Given the description of an element on the screen output the (x, y) to click on. 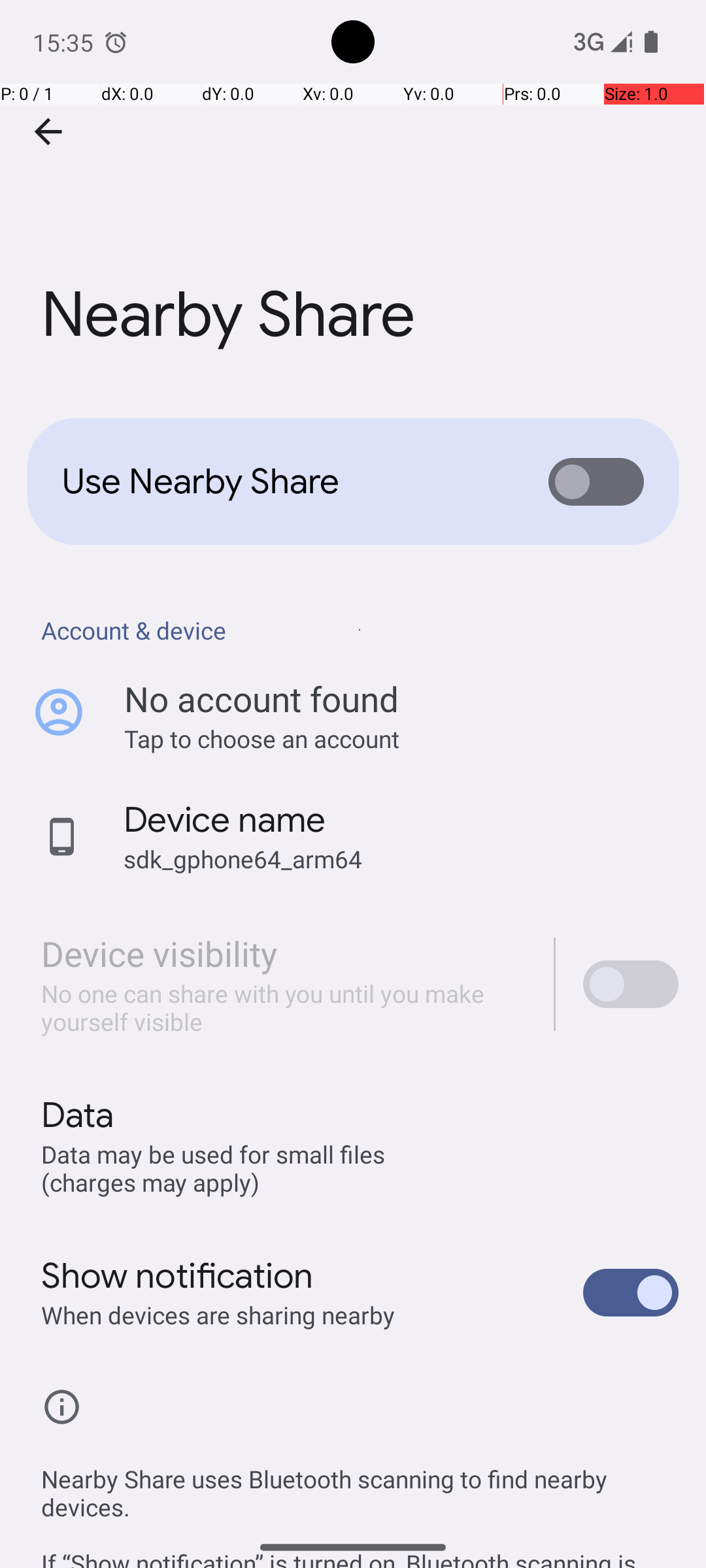
Nearby Share Element type: android.widget.FrameLayout (353, 195)
Use Nearby Share Element type: android.widget.TextView (284, 481)
Account & device Element type: android.widget.TextView (359, 629)
Tap to choose an account Element type: android.widget.TextView (401, 738)
Data Element type: android.widget.TextView (77, 1115)
Data may be used for small files 
(charges may apply) Element type: android.widget.TextView (215, 1167)
Show notification Element type: android.widget.TextView (177, 1275)
When devices are sharing nearby Element type: android.widget.TextView (218, 1314)
Nearby Share uses Bluetooth scanning to find nearby devices. 

If “Show notification” is turned on, Bluetooth scanning is used to notify you if someone wants to share with you, even when Nearby Share is turned off. Element type: android.widget.TextView (359, 1501)
No one can share with you until you make yourself visible Element type: android.widget.TextView (283, 1007)
